Given the description of an element on the screen output the (x, y) to click on. 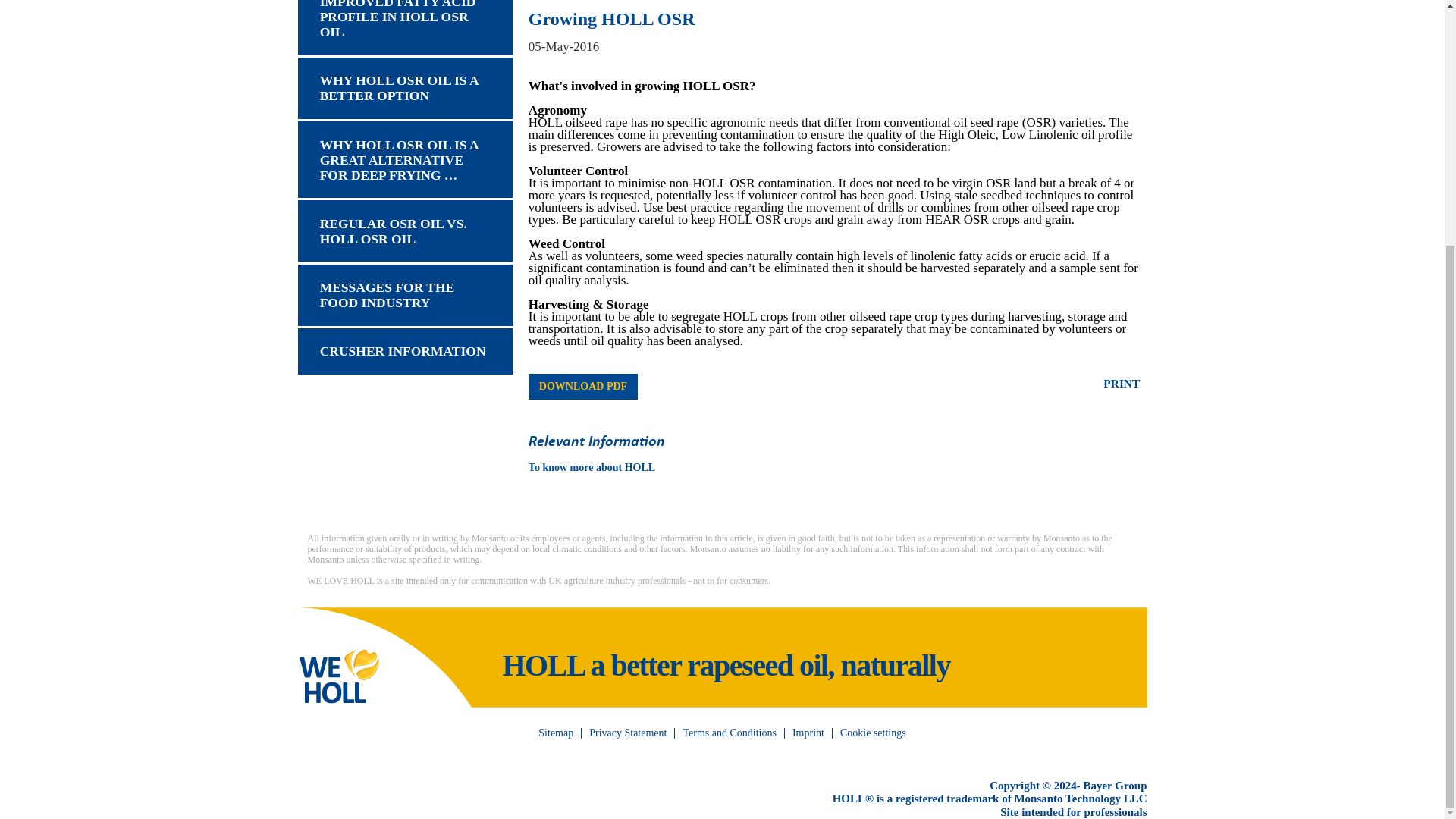
Privacy Statement (627, 732)
MESSAGES FOR THE FOOD INDUSTRY (404, 294)
REGULAR OSR OIL VS. HOLL OSR OIL (404, 230)
Sitemap (555, 732)
Imprint (807, 732)
To know more about HOLL (591, 467)
Download pdf (582, 386)
WHY HOLL OSR OIL IS A BETTER OPTION (404, 87)
CRUSHER INFORMATION (404, 351)
IMPROVED FATTY ACID PROFILE IN HOLL OSR OIL (404, 27)
Terms and Conditions (729, 732)
Print (1121, 383)
